Given the description of an element on the screen output the (x, y) to click on. 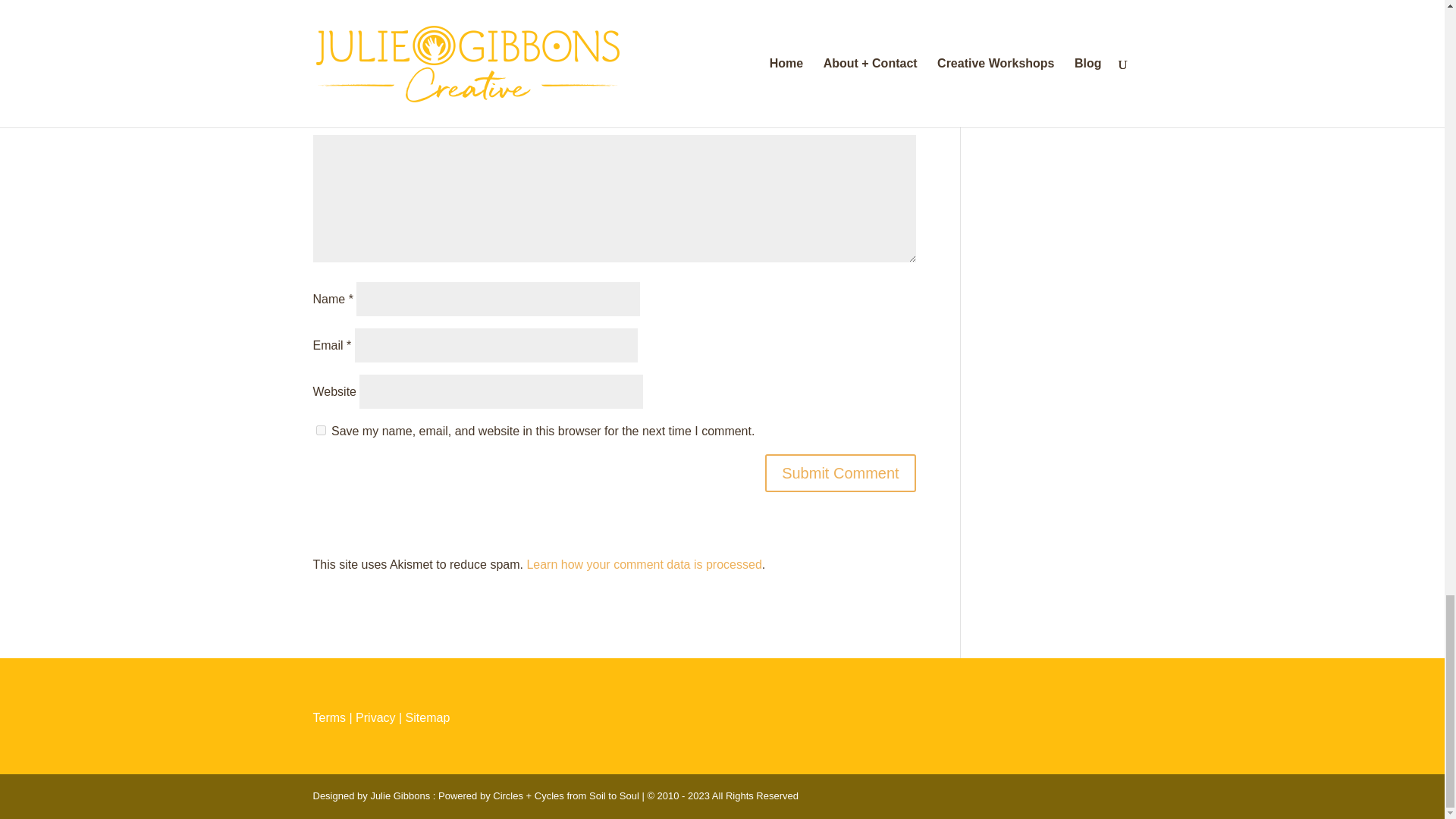
Submit Comment (840, 473)
Privacy (374, 717)
Sitemap (427, 717)
Submit Comment (840, 473)
Terms (329, 717)
yes (319, 429)
Learn how your comment data is processed (643, 563)
